Given the description of an element on the screen output the (x, y) to click on. 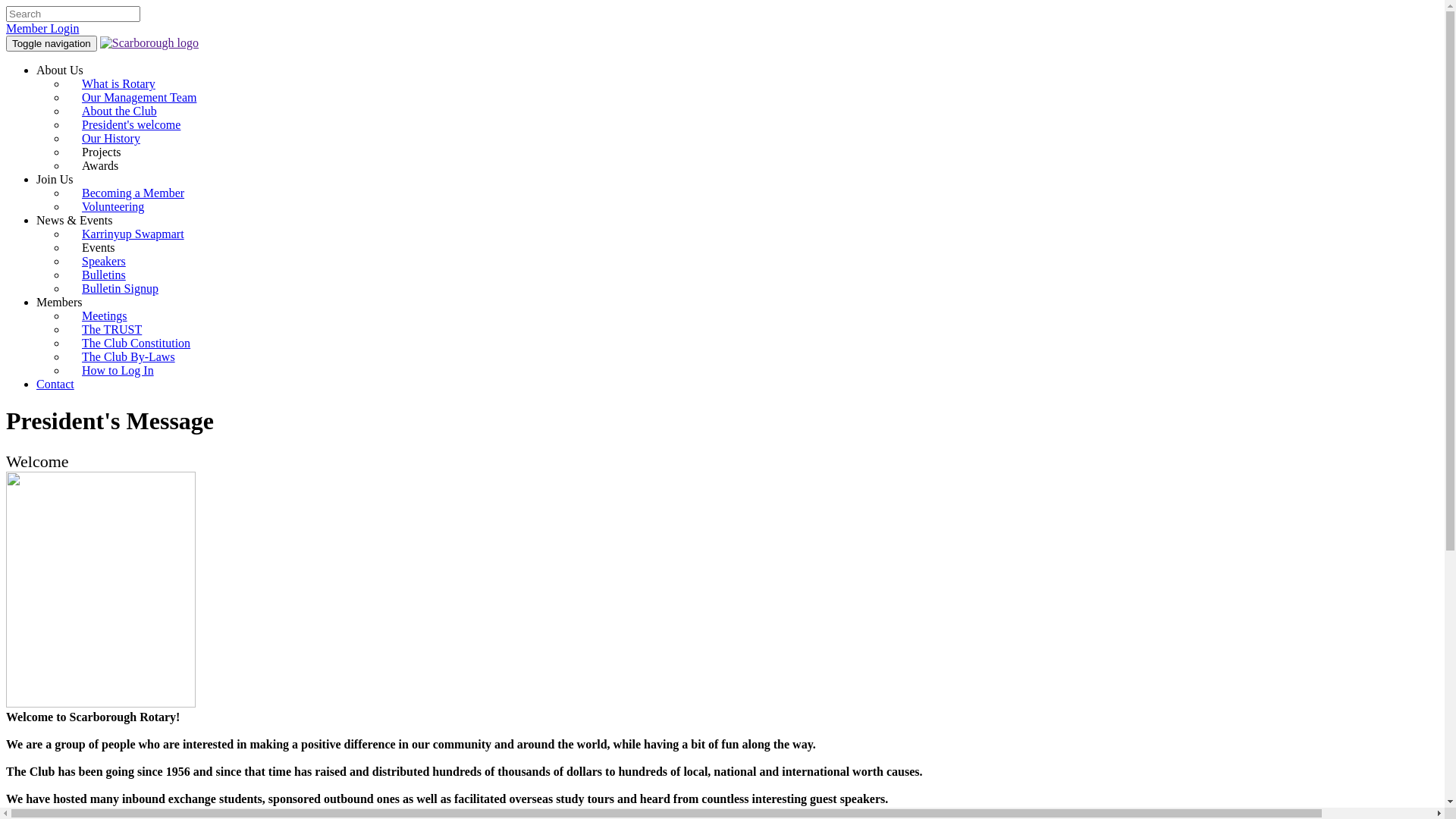
Speakers Element type: text (103, 260)
How to Log In Element type: text (117, 370)
The Club By-Laws Element type: text (128, 356)
Events Element type: text (104, 247)
Bulletin Signup Element type: text (119, 288)
President's welcome Element type: text (130, 124)
Our History Element type: text (110, 138)
Toggle navigation Element type: text (51, 43)
The Club Constitution Element type: text (135, 342)
Join Us Element type: text (54, 178)
Becoming a Member Element type: text (132, 192)
Meetings Element type: text (104, 315)
About Us Element type: text (59, 69)
Our Management Team Element type: text (138, 97)
Member Login Element type: text (42, 27)
Karrinyup Swapmart Element type: text (132, 233)
What is Rotary Element type: text (118, 83)
Volunteering Element type: text (112, 206)
Contact Element type: text (55, 383)
News & Events Element type: text (74, 219)
Awards Element type: text (105, 165)
Members Element type: text (58, 301)
About the Club Element type: text (119, 110)
The TRUST Element type: text (111, 329)
Projects Element type: text (107, 151)
Bulletins Element type: text (103, 274)
